Given the description of an element on the screen output the (x, y) to click on. 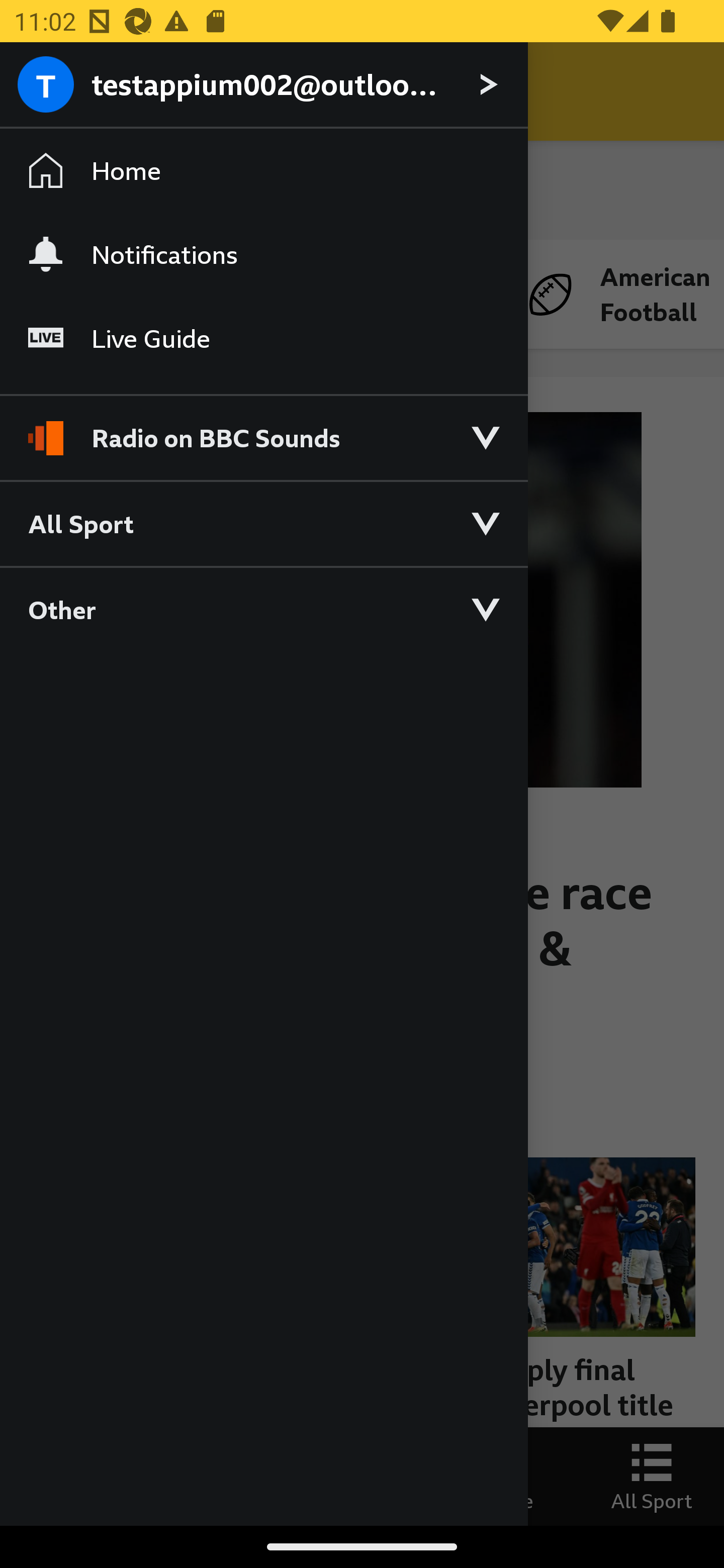
testappium002@outlook.com (263, 85)
Home (263, 170)
Notifications (263, 253)
Live Guide (263, 338)
Radio on BBC Sounds (263, 429)
All Sport (263, 522)
Other (263, 609)
